Given the description of an element on the screen output the (x, y) to click on. 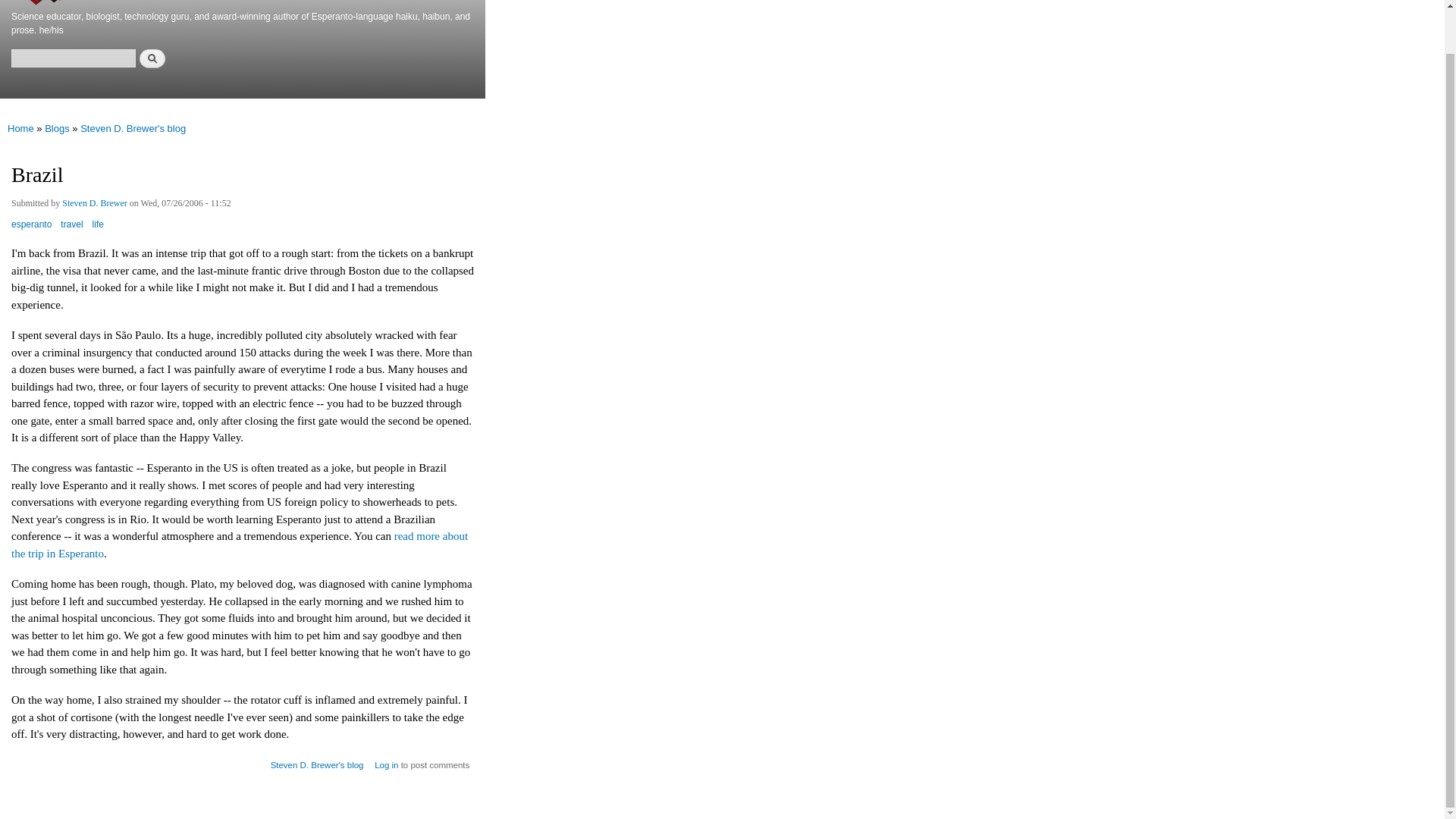
read more about the trip in Esperanto (239, 544)
Steven D. Brewer's blog (133, 128)
Read Steven D. Brewer's latest blog entries. (317, 759)
Steven D. Brewer's blog (317, 759)
Search (152, 58)
Home (20, 128)
View user profile. (95, 205)
Steven D. Brewer (95, 205)
esperanto (30, 229)
Enter the terms you wish to search for. (73, 58)
